Given the description of an element on the screen output the (x, y) to click on. 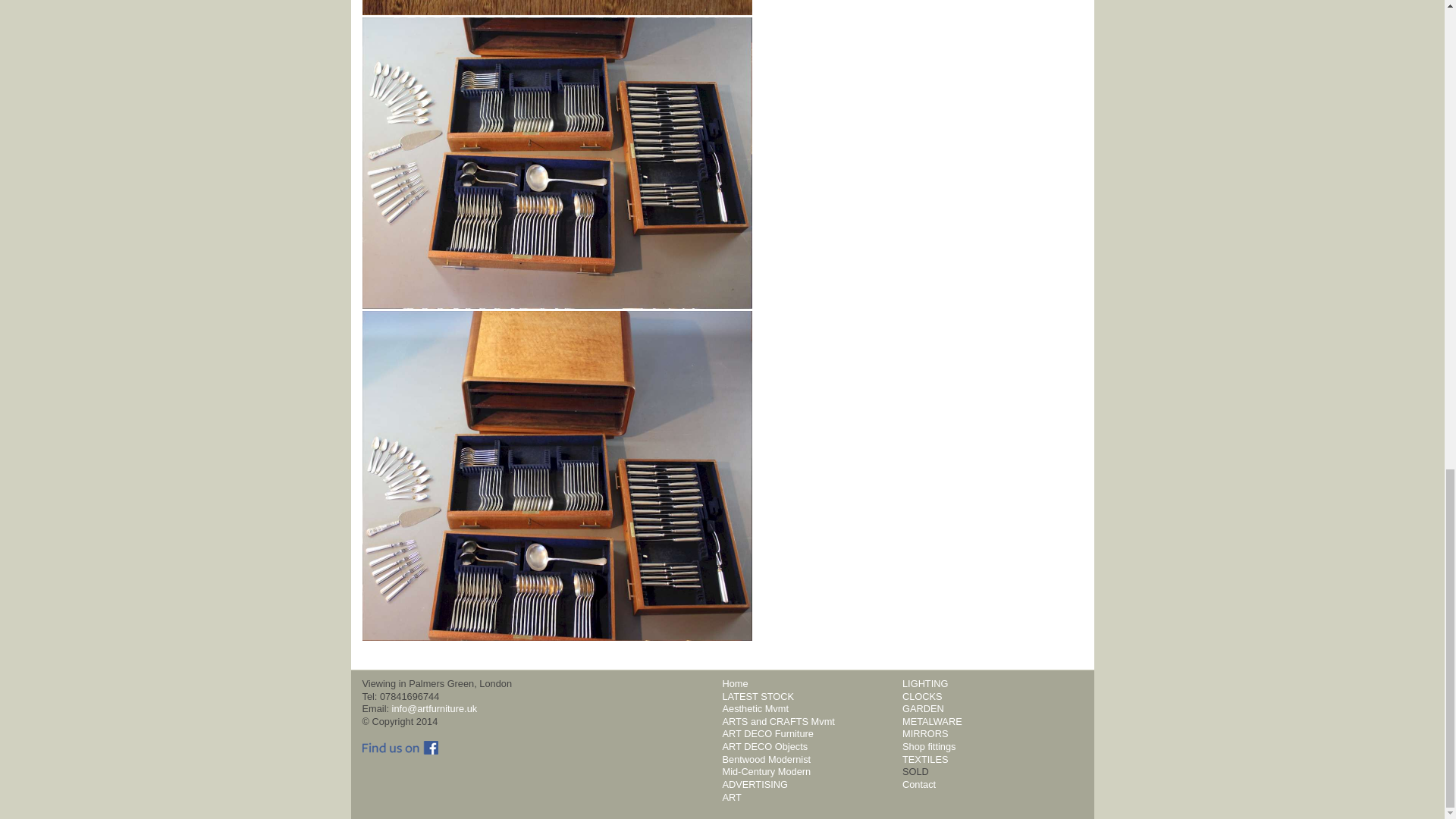
ART (731, 797)
GARDEN (922, 708)
ADVERTISING (754, 784)
Bentwood Modernist (766, 758)
ART DECO Objects (765, 746)
Mid-Century Modern (766, 771)
CLOCKS (922, 696)
METALWARE (932, 721)
Home (735, 683)
ARTS and CRAFTS Mvmt (778, 721)
LIGHTING (924, 683)
Aesthetic Mvmt (754, 708)
LATEST STOCK (757, 696)
ART DECO Furniture (767, 733)
